Given the description of an element on the screen output the (x, y) to click on. 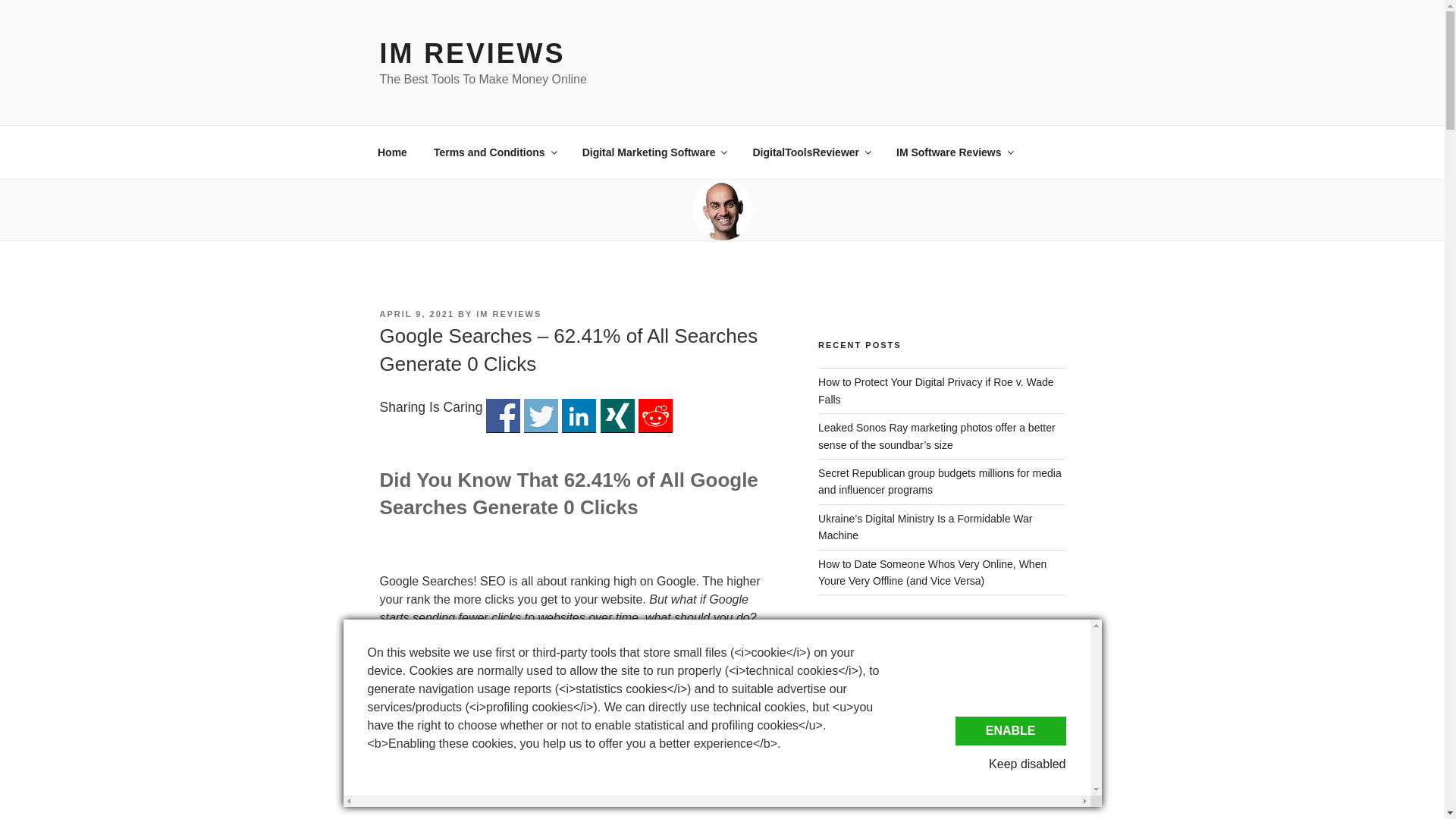
Share on Twitter (540, 415)
Digital Marketing Software (654, 151)
Share on Facebook (502, 415)
Share on Linkedin (578, 415)
IM REVIEWS (471, 52)
APRIL 9, 2021 (416, 313)
IM REVIEWS (508, 313)
Share on Reddit (655, 415)
Home (392, 151)
Terms and Conditions (494, 151)
DigitalToolsReviewer (811, 151)
IM Software Reviews (954, 151)
Share on Xing (616, 415)
